Given the description of an element on the screen output the (x, y) to click on. 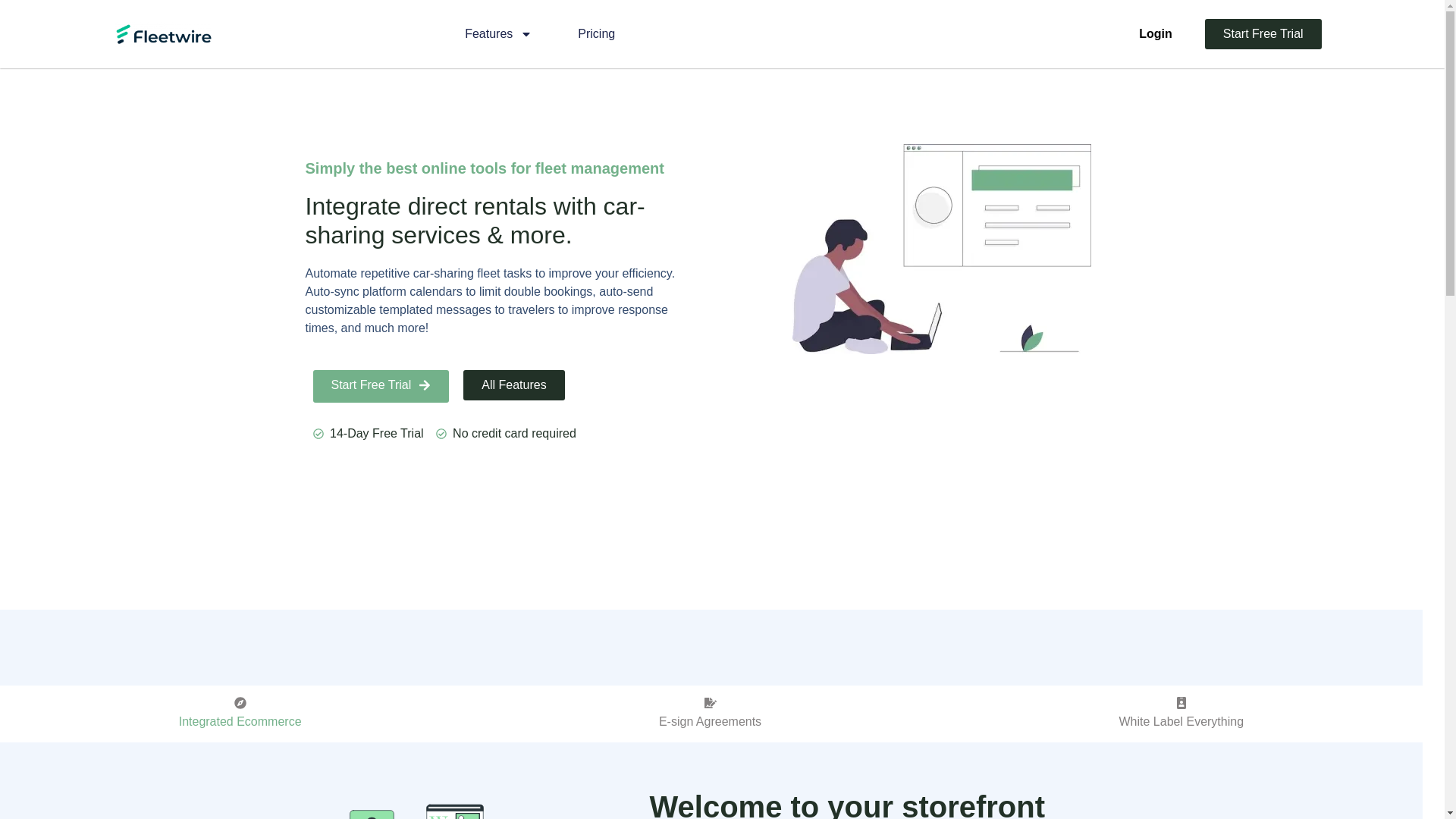
Start Free Trial (380, 386)
All Features (513, 385)
E-sign Agreements (710, 713)
White Label Everything (1181, 713)
Login (1156, 33)
Pricing (596, 33)
Start Free Trial (1263, 33)
Integrated Ecommerce (240, 713)
logo-main-transparent (163, 34)
Features (497, 33)
